Given the description of an element on the screen output the (x, y) to click on. 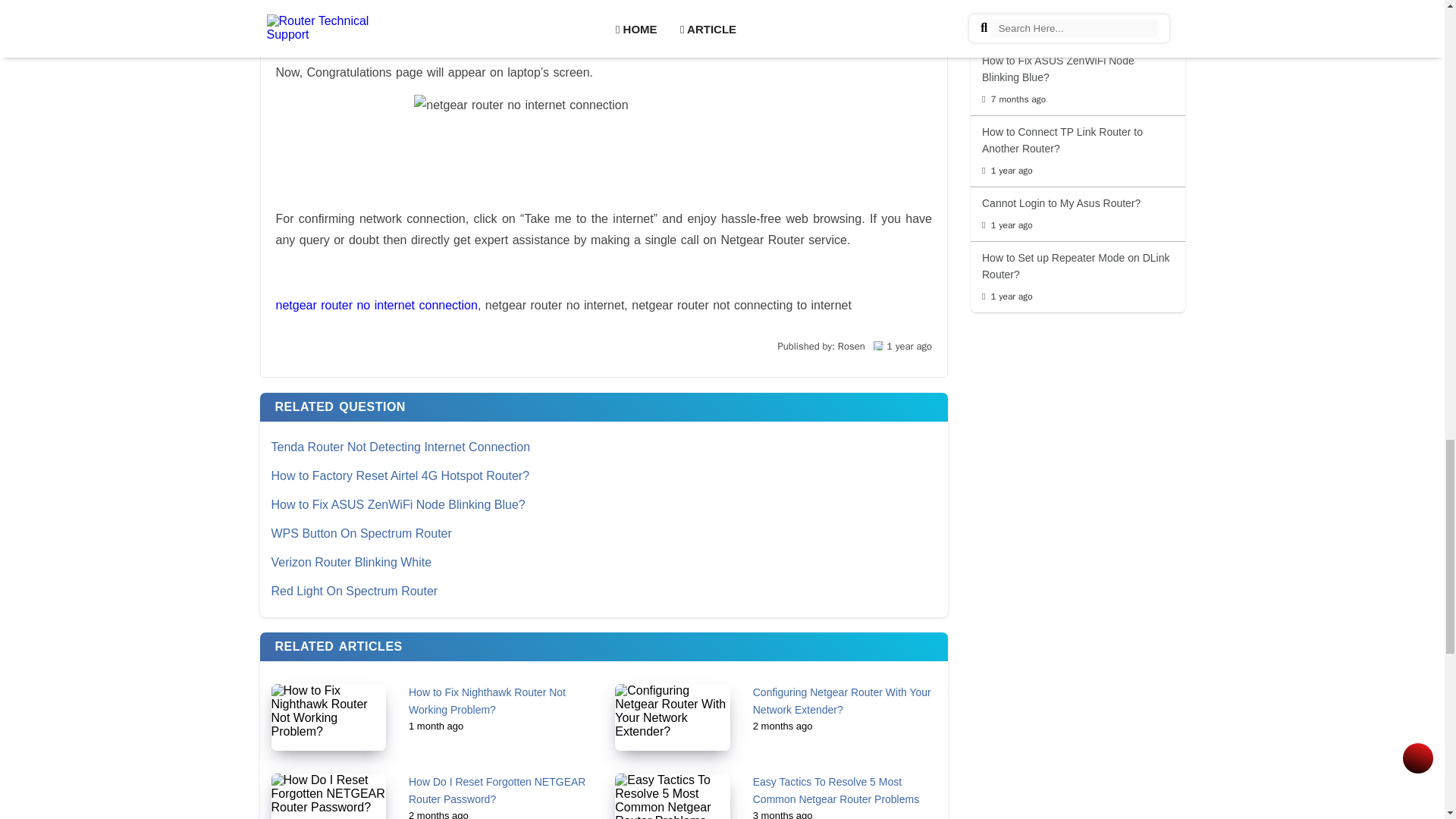
Configuring Netgear Router With Your Network Extender? (841, 700)
netgear router no internet connection (376, 305)
How to Fix ASUS ZenWiFi Node Blinking Blue? (603, 504)
How to Fix Nighthawk Router Not Working Problem? (487, 700)
WPS Button On Spectrum Router (603, 533)
Verizon Router Blinking White (603, 562)
How Do I Reset Forgotten NETGEAR Router Password? (497, 790)
How to Factory Reset Airtel 4G Hotspot Router? (603, 475)
Red Light On Spectrum Router (603, 591)
Tenda Router Not Detecting Internet Connection (603, 447)
